Given the description of an element on the screen output the (x, y) to click on. 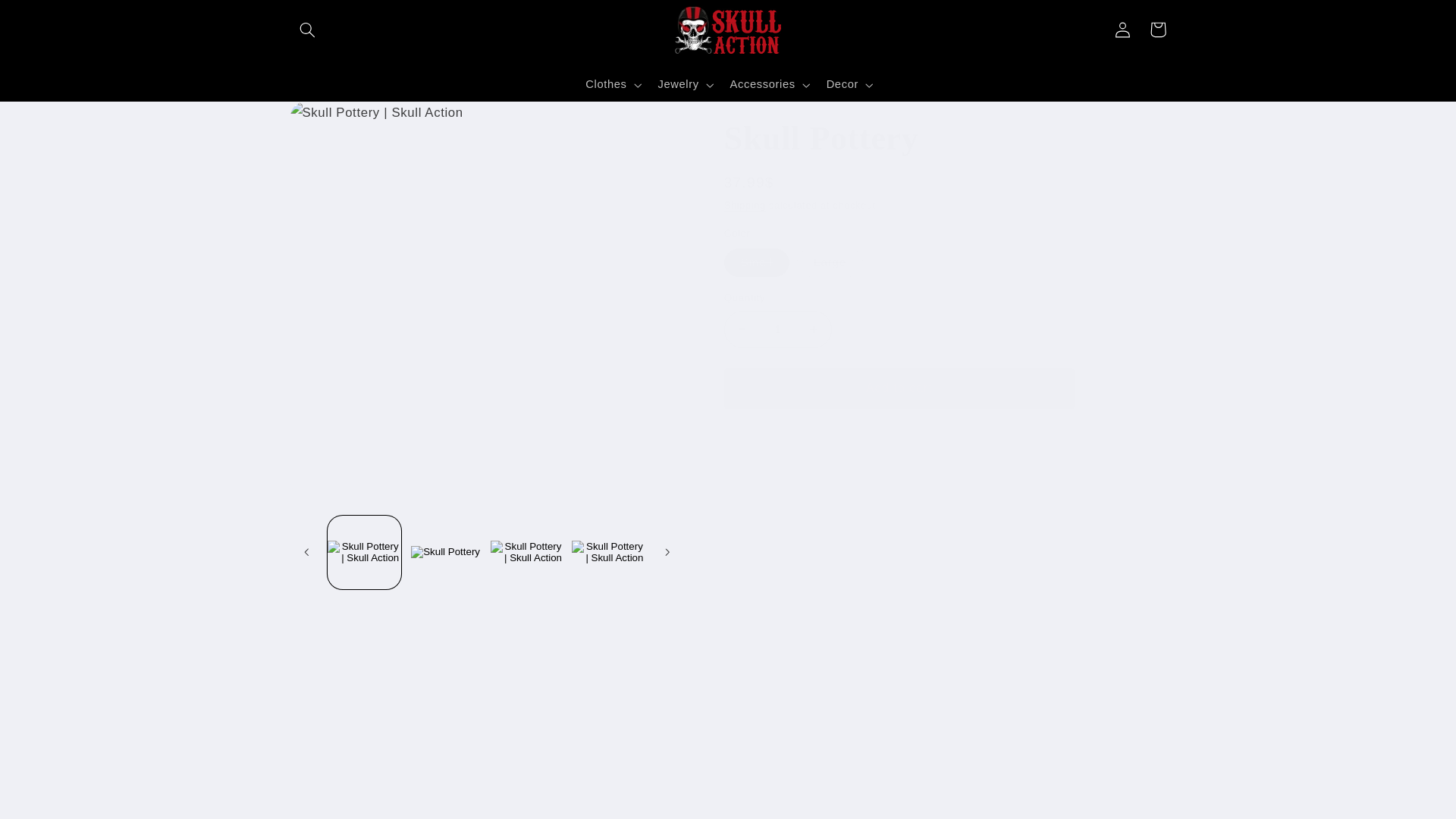
Skip to content (50, 20)
1 (777, 329)
